Given the description of an element on the screen output the (x, y) to click on. 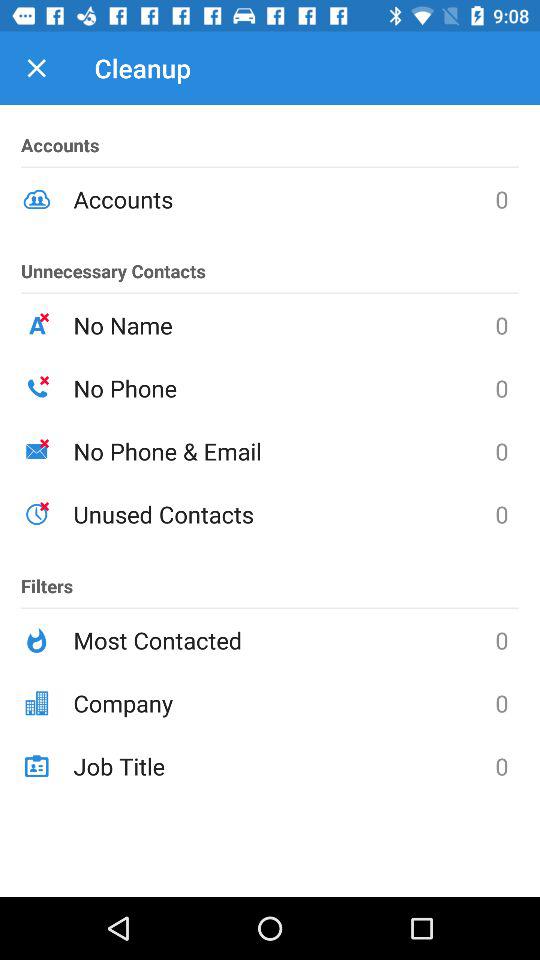
open icon below the filters item (284, 639)
